Given the description of an element on the screen output the (x, y) to click on. 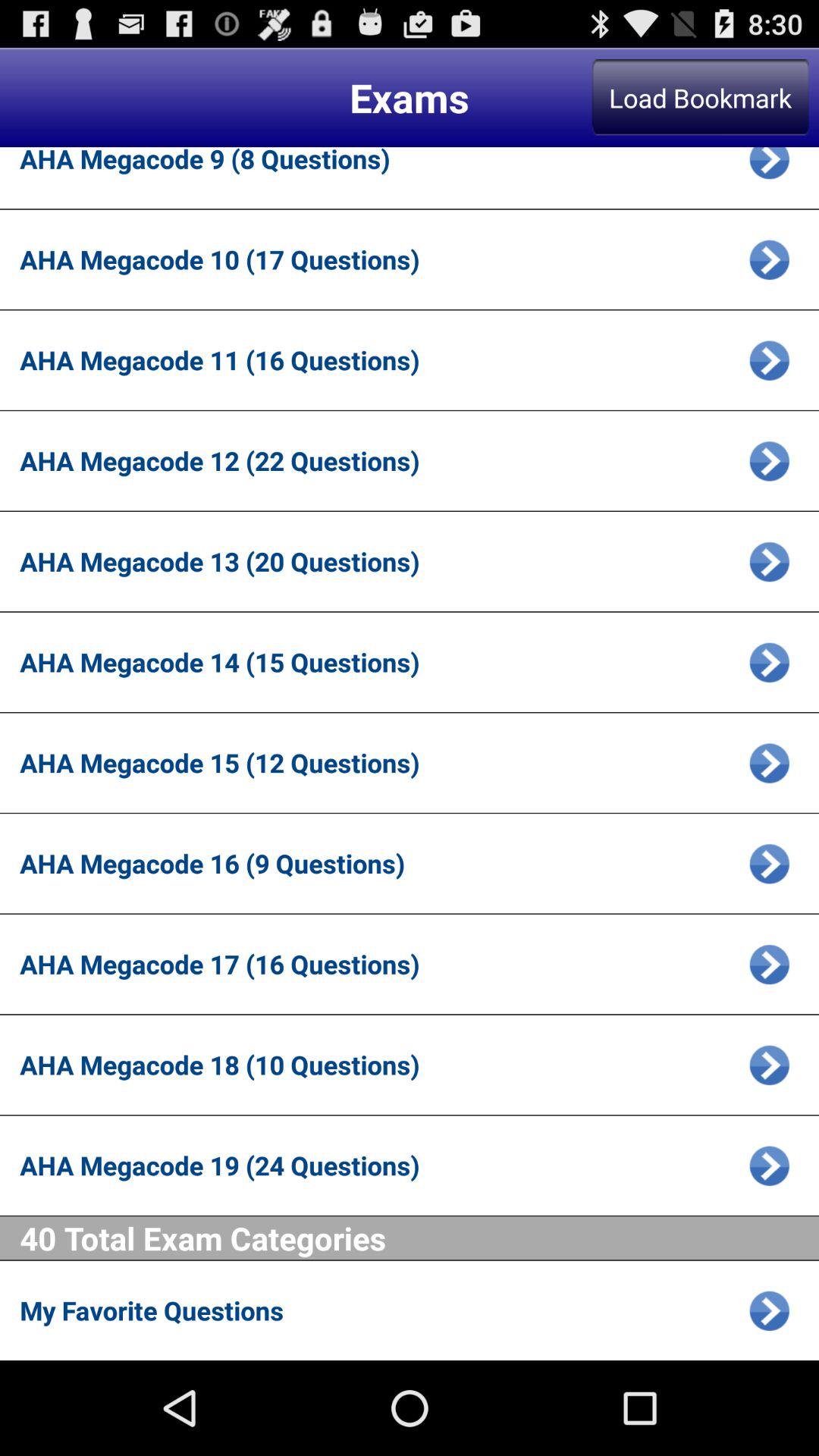
select exam (769, 167)
